Given the description of an element on the screen output the (x, y) to click on. 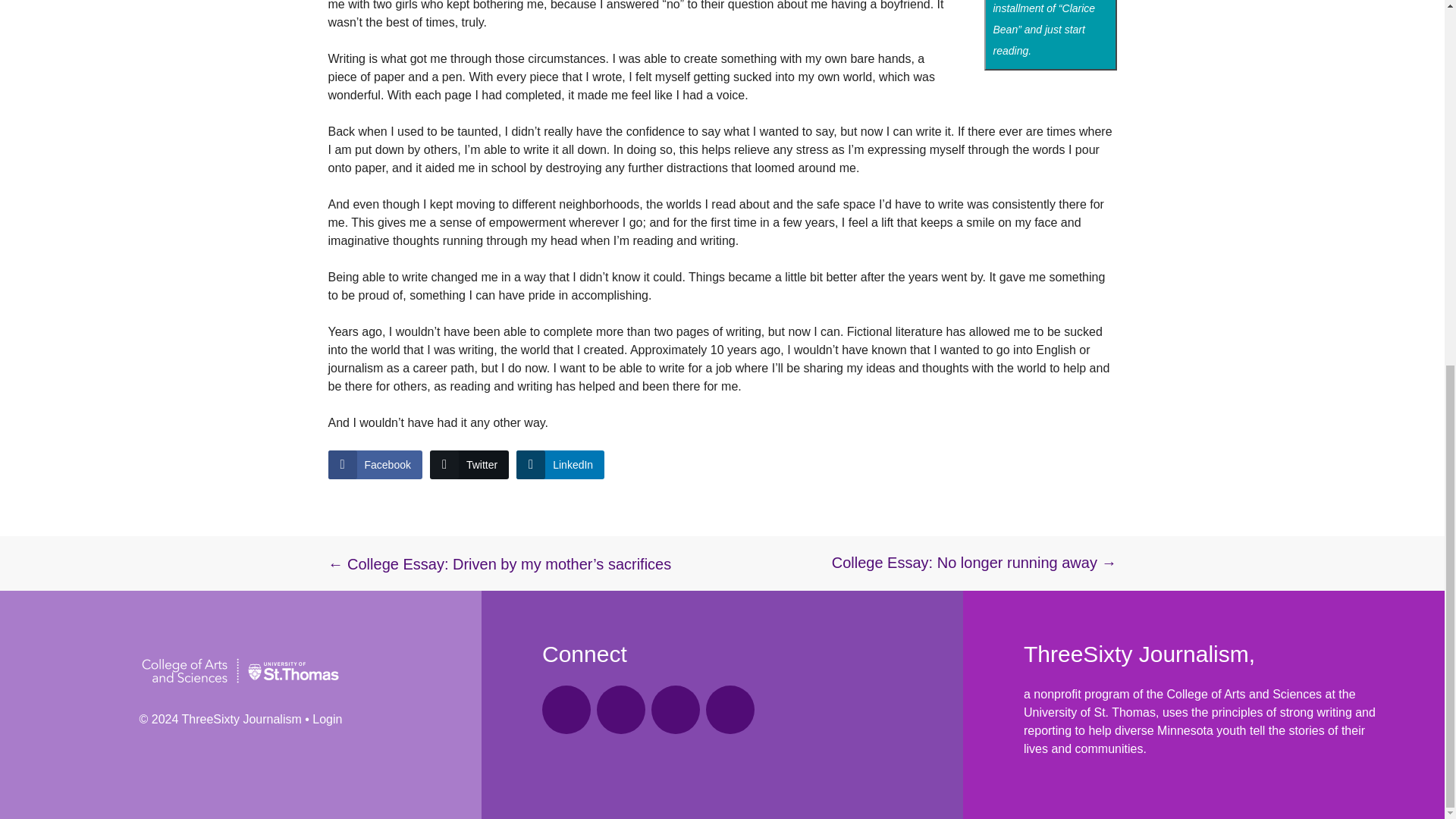
Twitter (729, 710)
Email (566, 710)
Facebook (620, 710)
Instagram (675, 710)
